Given the description of an element on the screen output the (x, y) to click on. 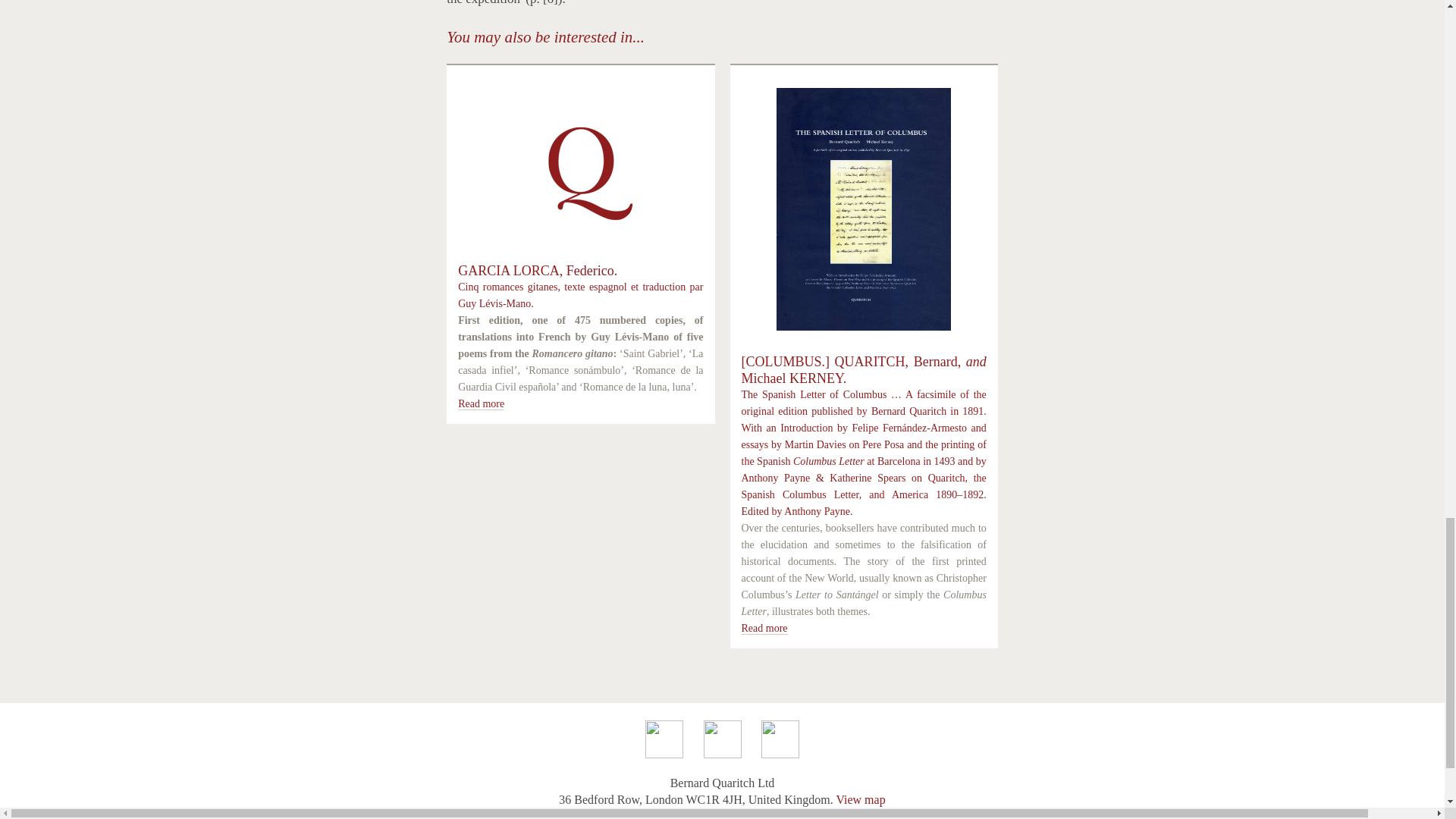
View map (860, 799)
Read more (480, 404)
Read more (764, 628)
